Given the description of an element on the screen output the (x, y) to click on. 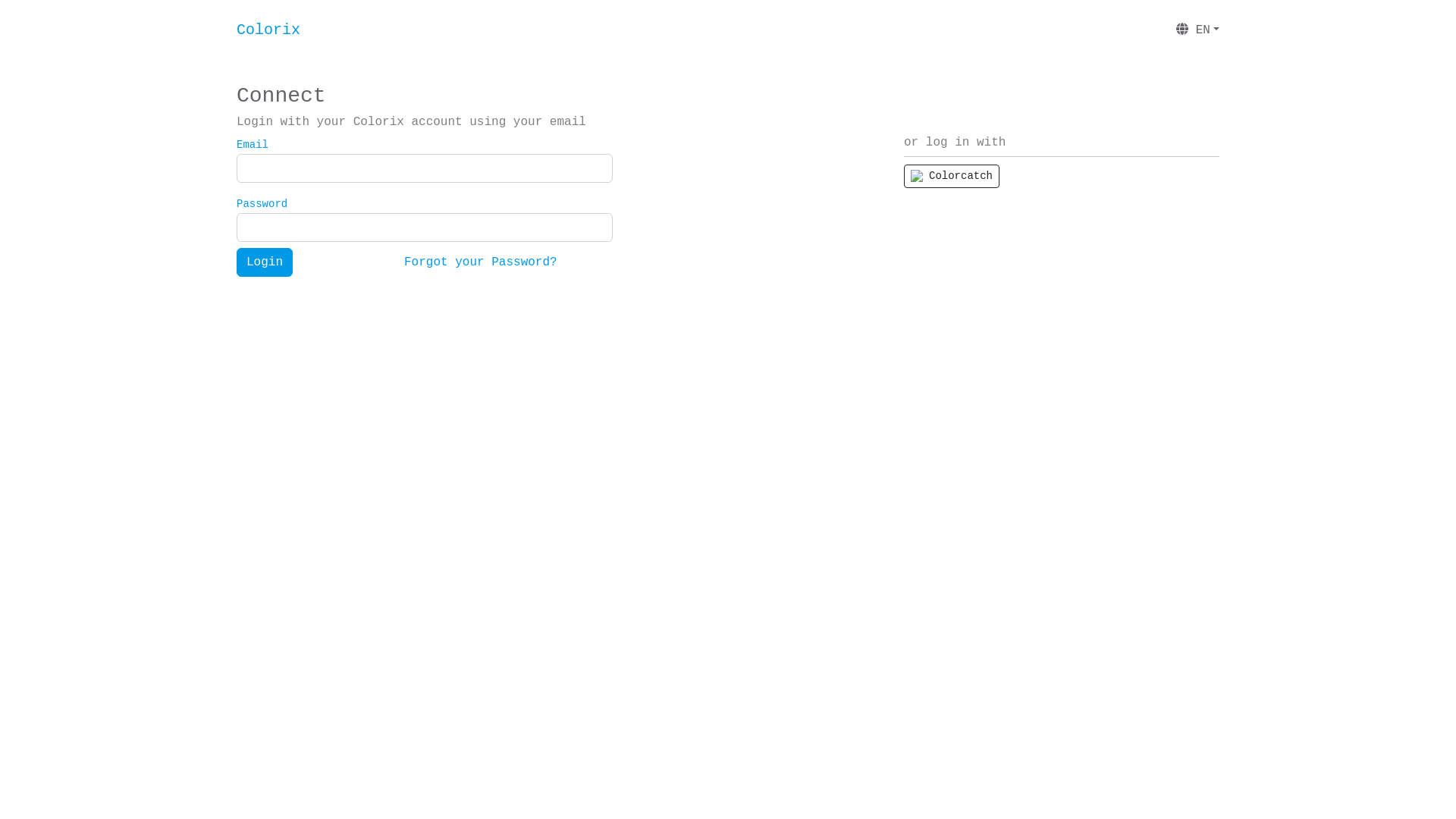
Login Element type: text (264, 261)
Colorix Element type: text (268, 30)
Forgot your Password? Element type: text (480, 261)
Colorcatch Element type: text (951, 176)
EN Element type: text (1197, 30)
Colorcatch Element type: text (951, 176)
